Given the description of an element on the screen output the (x, y) to click on. 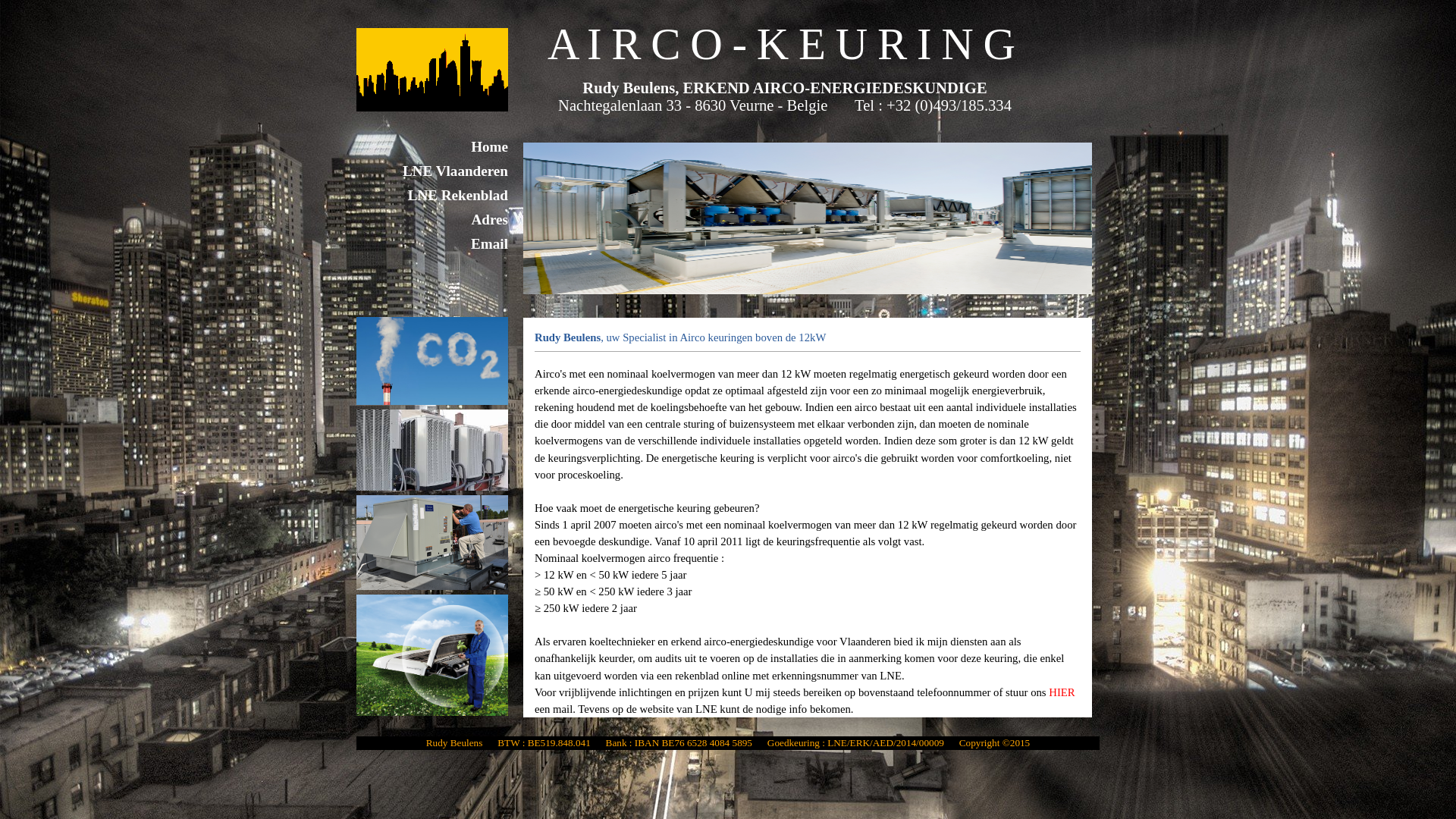
 LNE Rekenblad Element type: text (432, 195)
 Adres Element type: text (432, 219)
HIER Element type: text (1061, 692)
 Home Element type: text (432, 146)
 LNE Vlaanderen Element type: text (432, 171)
 Email Element type: text (432, 244)
